Given the description of an element on the screen output the (x, y) to click on. 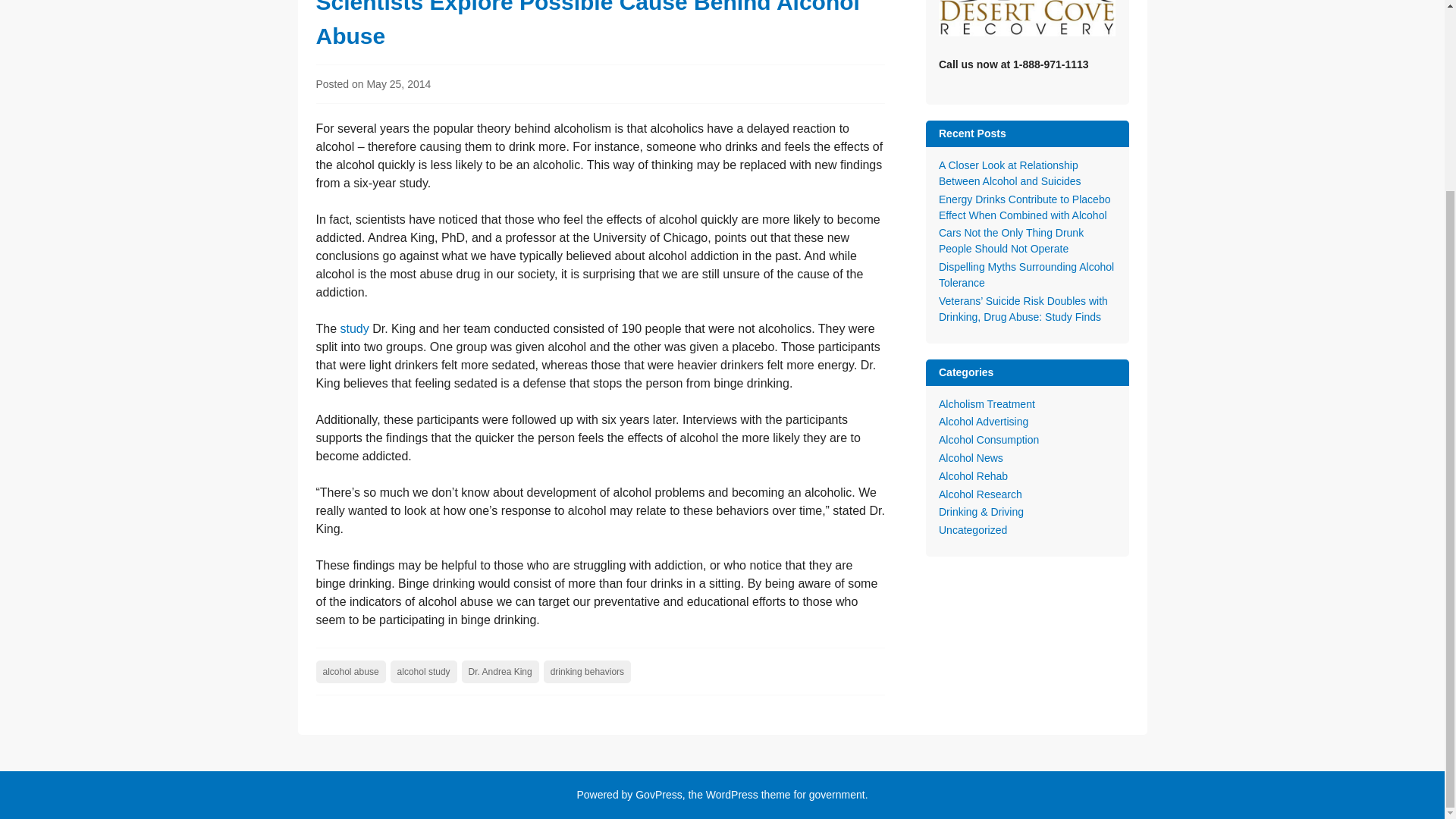
Scientists Explore Possible Cause Behind Alcohol Abuse (587, 24)
Alcholism Treatment (987, 404)
Dispelling Myths Surrounding Alcohol Tolerance (1026, 275)
Alcohol Rehab (973, 476)
A Closer Look at Relationship Between Alcohol and Suicides (1010, 172)
Alcohol Advertising (983, 421)
alcohol study (423, 671)
alcohol abuse (350, 671)
GovPress (657, 794)
Alcohol Consumption (989, 439)
May 25, 2014 (398, 83)
study (354, 328)
drinking behaviors (586, 671)
Dr. Andrea King (499, 671)
Alcohol News (971, 458)
